Given the description of an element on the screen output the (x, y) to click on. 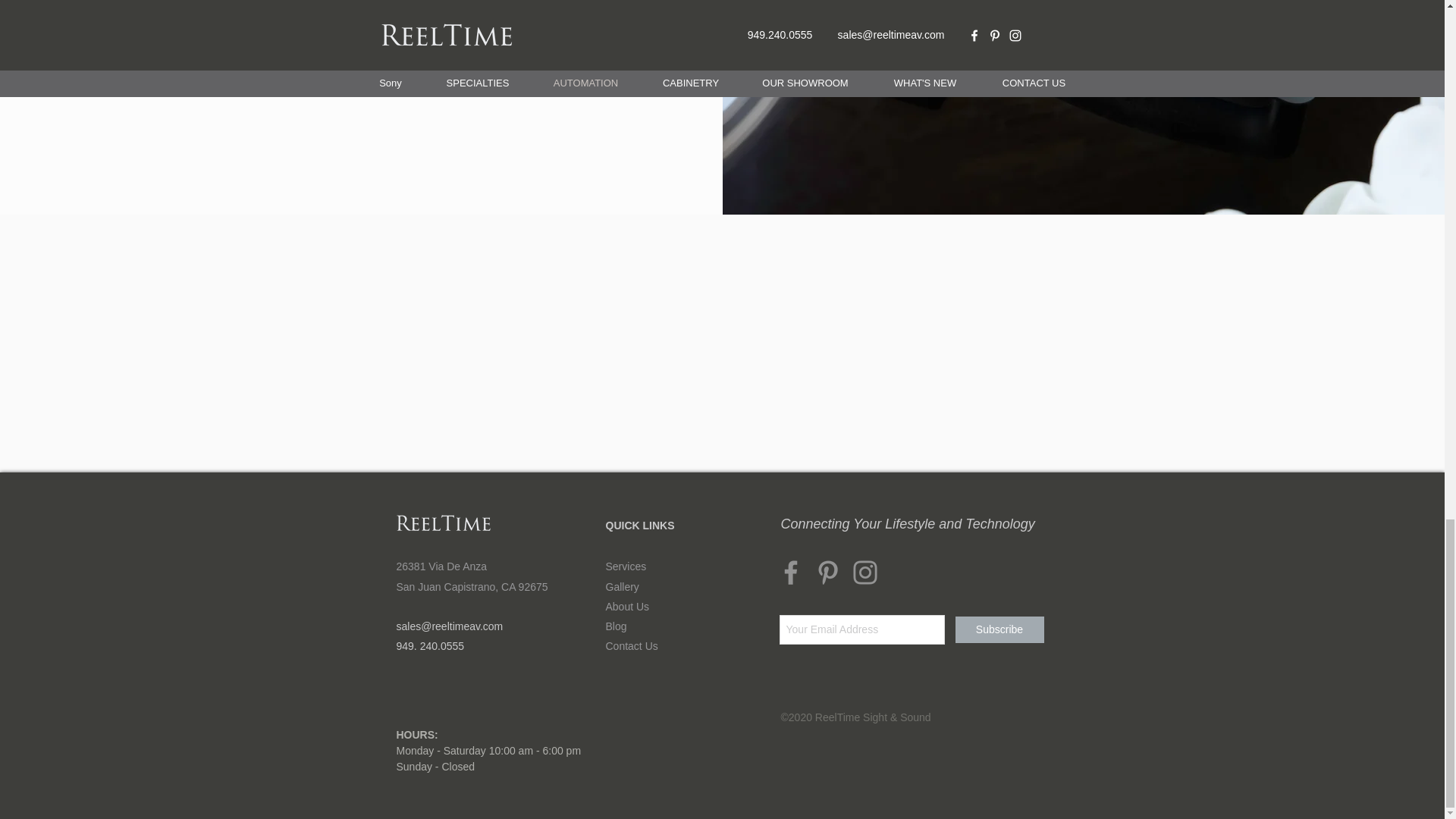
Gallery (622, 586)
Services (625, 566)
Contact Us (631, 645)
About Us (627, 606)
Subscribe (999, 629)
Blog (615, 625)
